Given the description of an element on the screen output the (x, y) to click on. 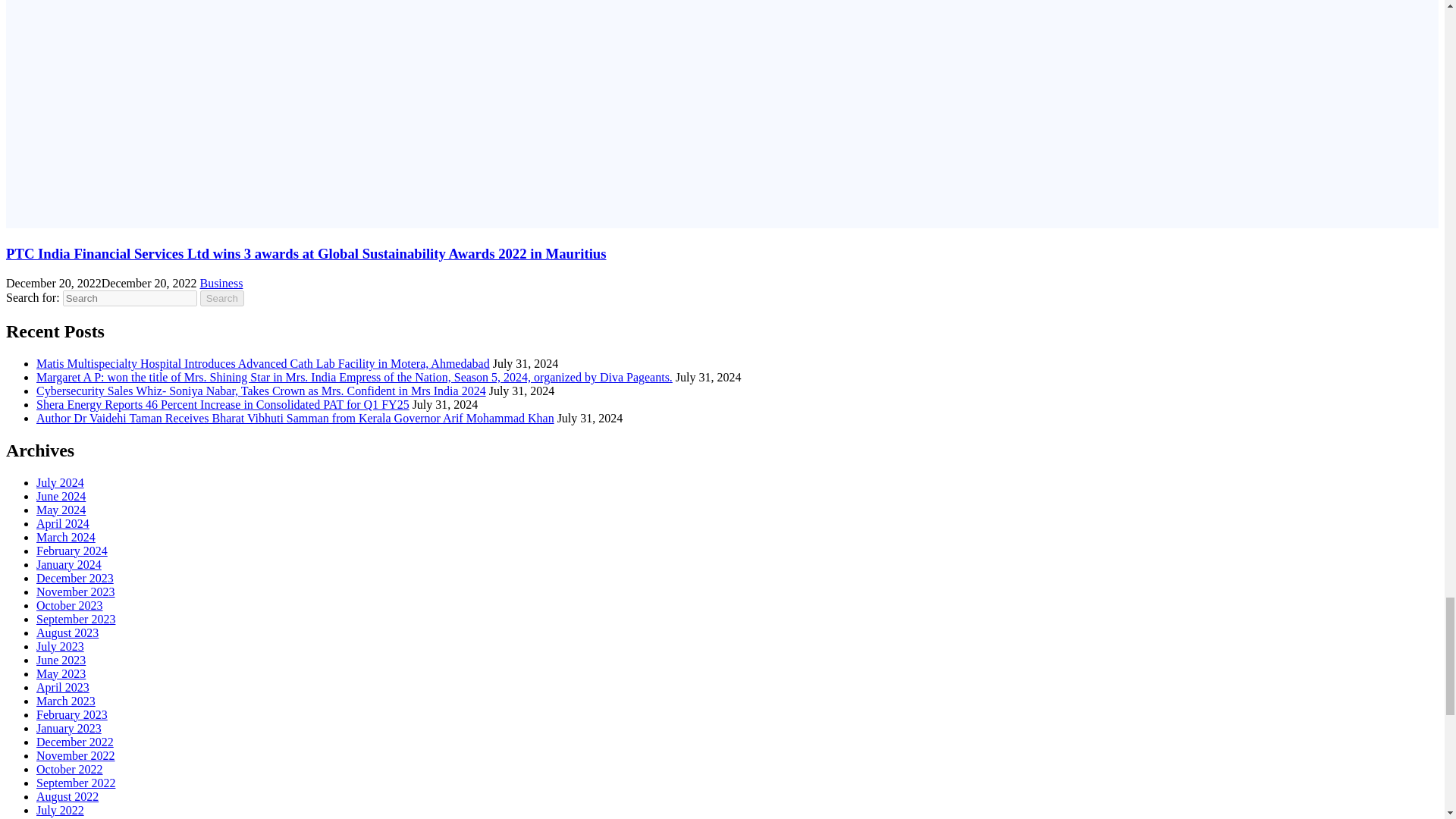
Search (222, 298)
Search (222, 298)
Search Input (129, 298)
